Given the description of an element on the screen output the (x, y) to click on. 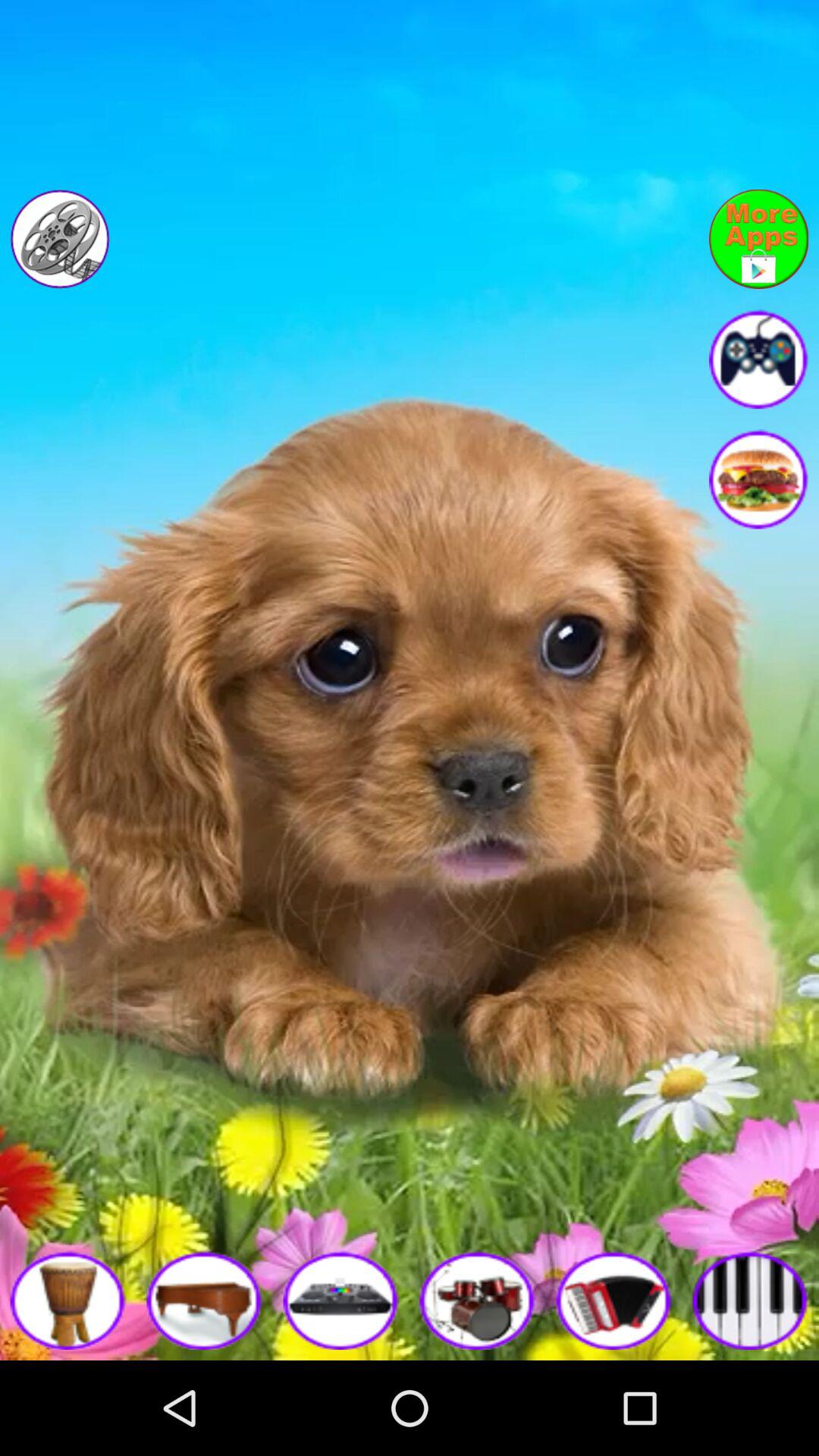
switch to piano tab (750, 1300)
